Given the description of an element on the screen output the (x, y) to click on. 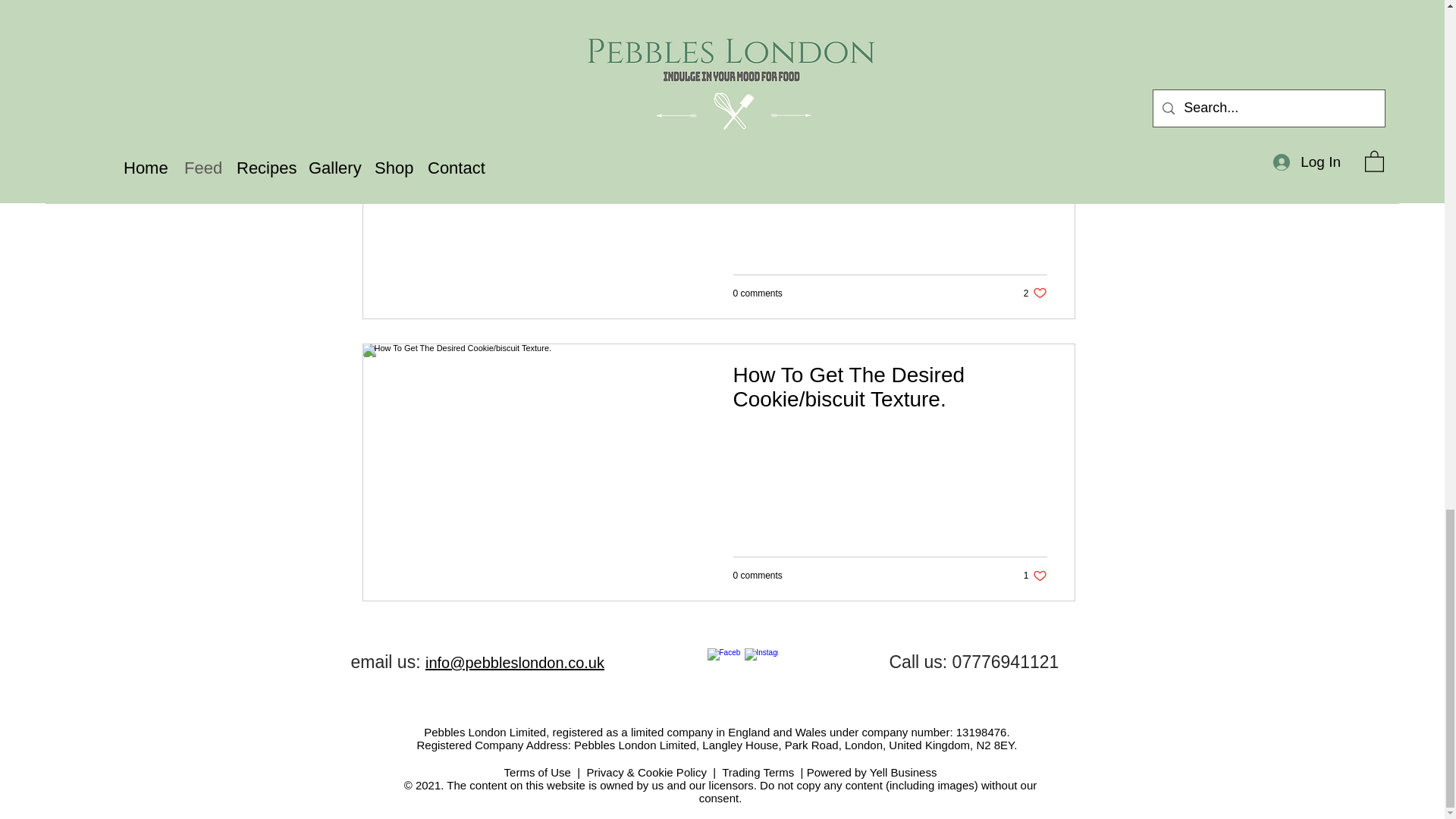
Terms of Use (1034, 292)
0 comments (536, 771)
Yell Business (756, 575)
0 comments (1034, 575)
0 comments (903, 771)
Trading Terms (756, 9)
Post not marked as liked (756, 293)
